Given the description of an element on the screen output the (x, y) to click on. 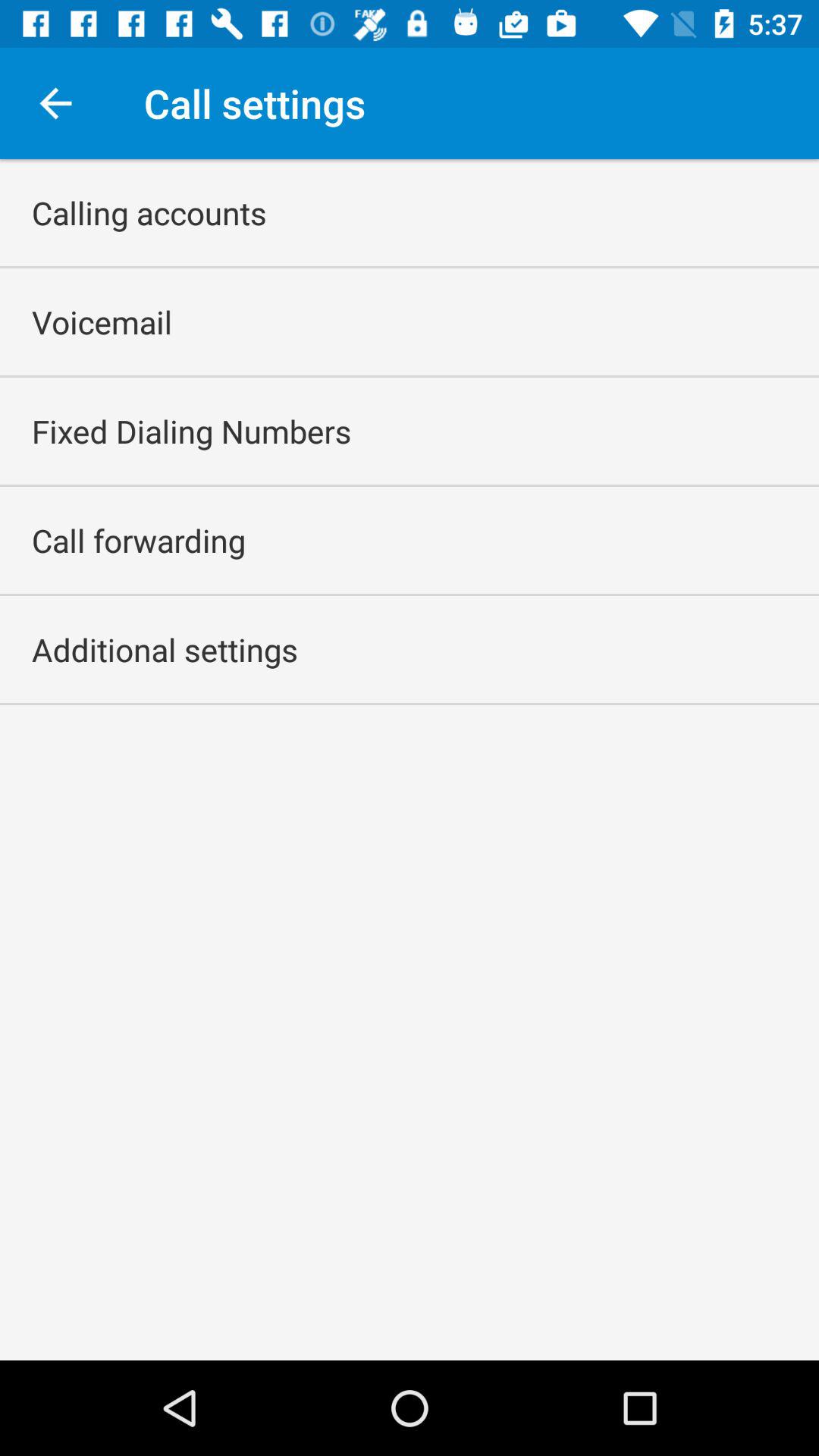
launch icon above the voicemail (148, 212)
